Given the description of an element on the screen output the (x, y) to click on. 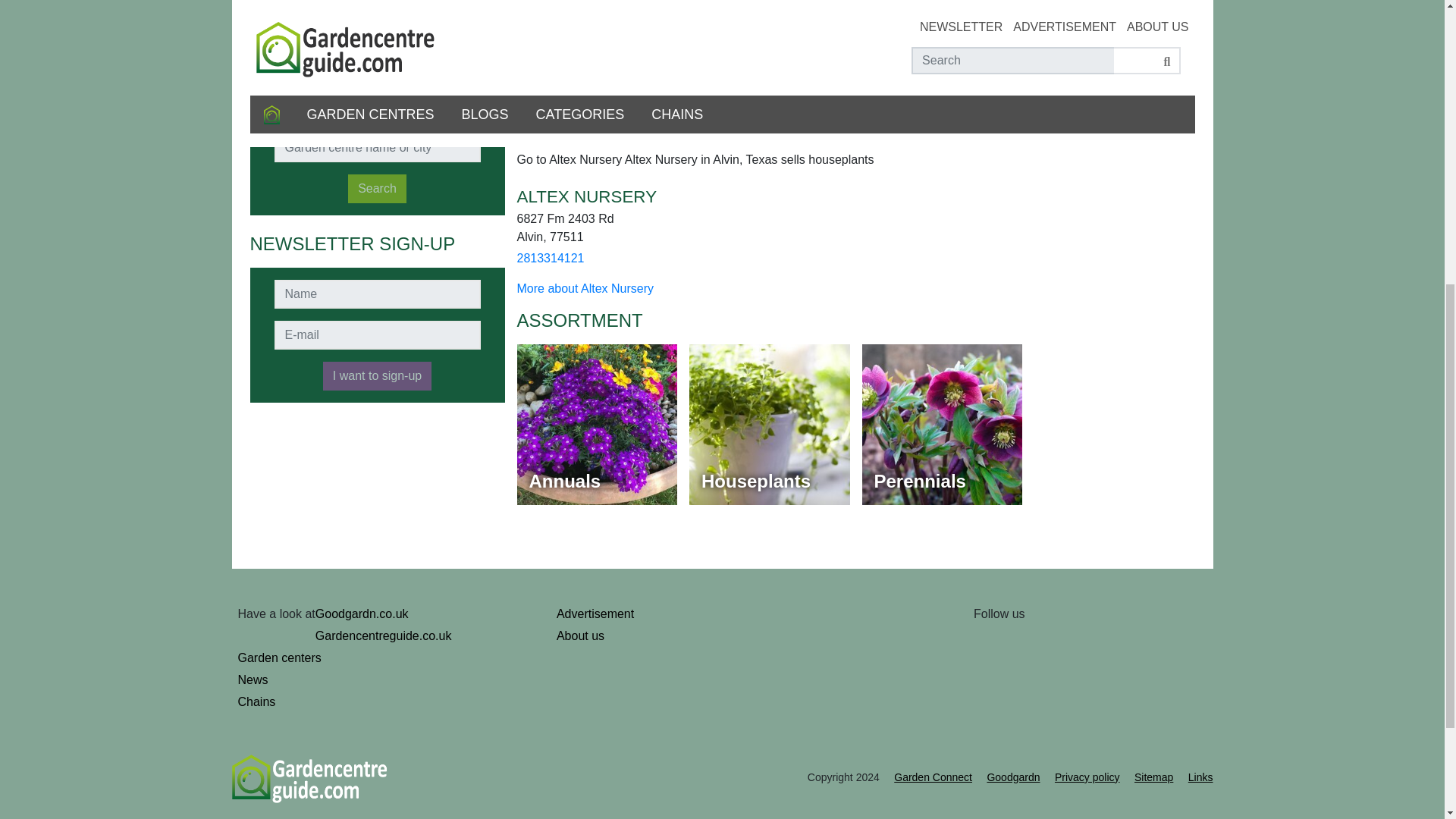
About us (674, 636)
special offers (742, 68)
Give Your Lawn a Boost (323, 6)
Annuals (597, 424)
News (355, 679)
Pruning blueberries (309, 32)
Goodgardn.co.uk (432, 614)
read the latest reviews (937, 68)
Gardencentreguide.co.uk (432, 636)
Advertisement (674, 614)
Search (376, 188)
2813314121 (550, 258)
Houseplants (769, 424)
Perennials (941, 424)
Give Your Lawn a Boost (323, 6)
